Given the description of an element on the screen output the (x, y) to click on. 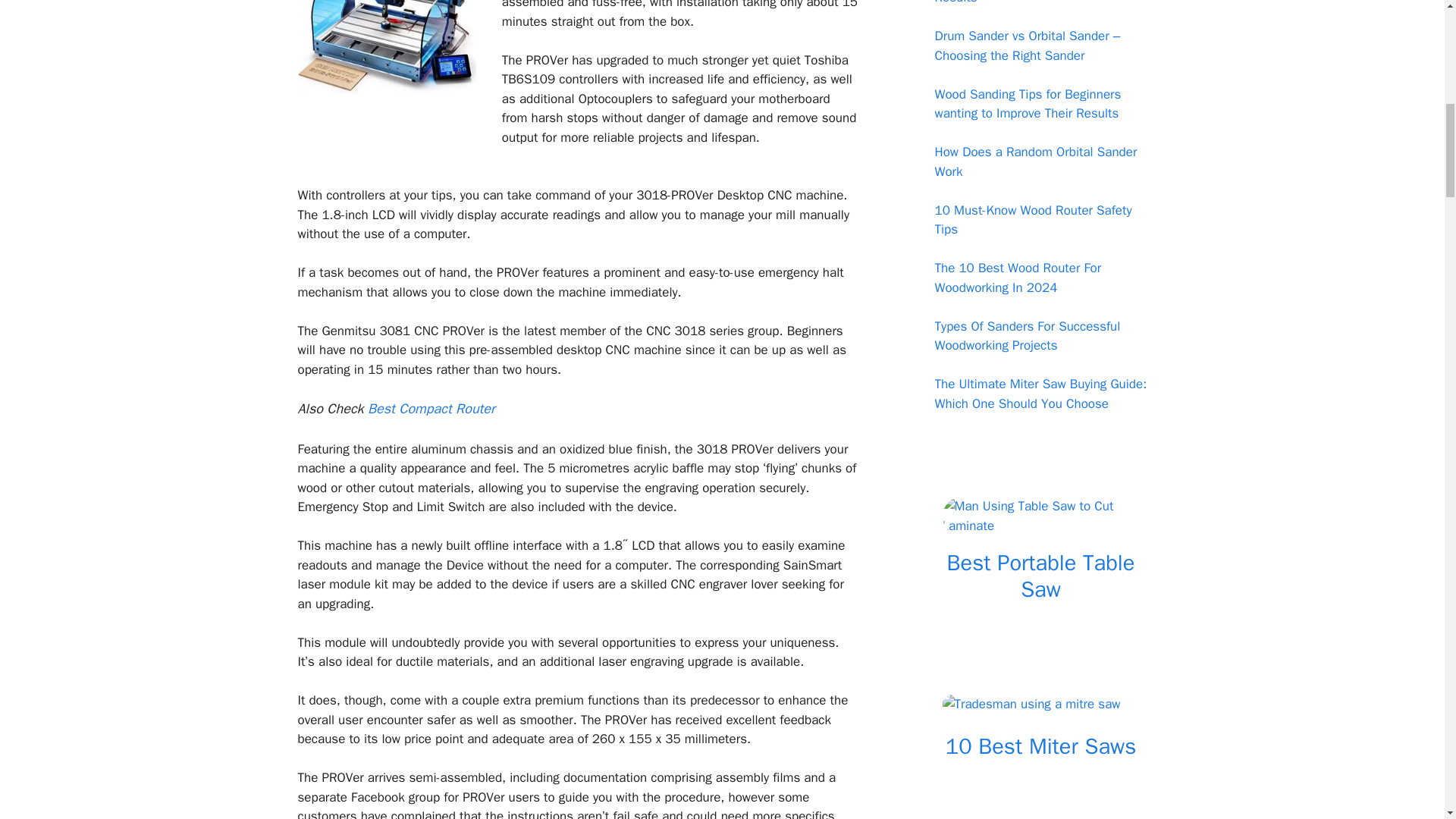
Best Compact Router (431, 408)
